Given the description of an element on the screen output the (x, y) to click on. 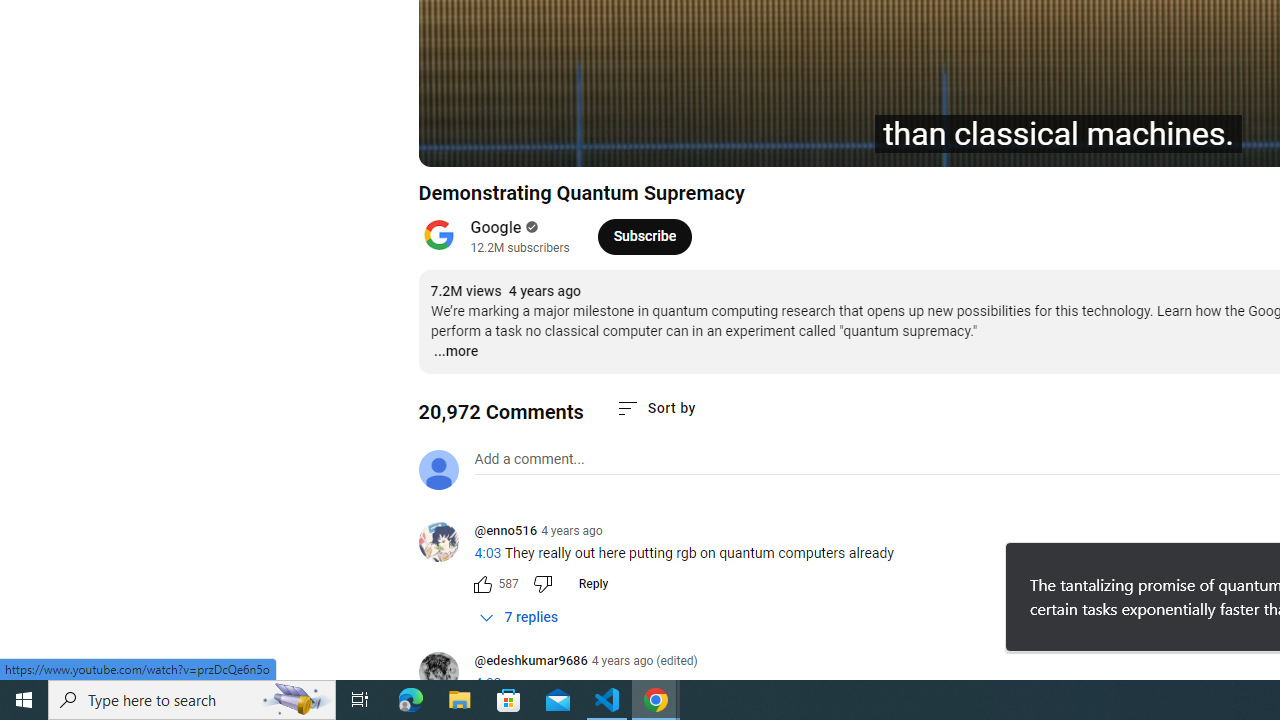
@enno516 (446, 543)
@edeshkumar9686 (446, 673)
Pause (k) (453, 142)
Mute (m) (548, 142)
Default profile photo (438, 470)
@enno516 (505, 532)
7 replies (518, 617)
Verified (530, 227)
Intro (674, 142)
4:03 (487, 683)
Reply (592, 583)
4 years ago (edited) (644, 661)
@edeshkumar9686 (530, 661)
